Given the description of an element on the screen output the (x, y) to click on. 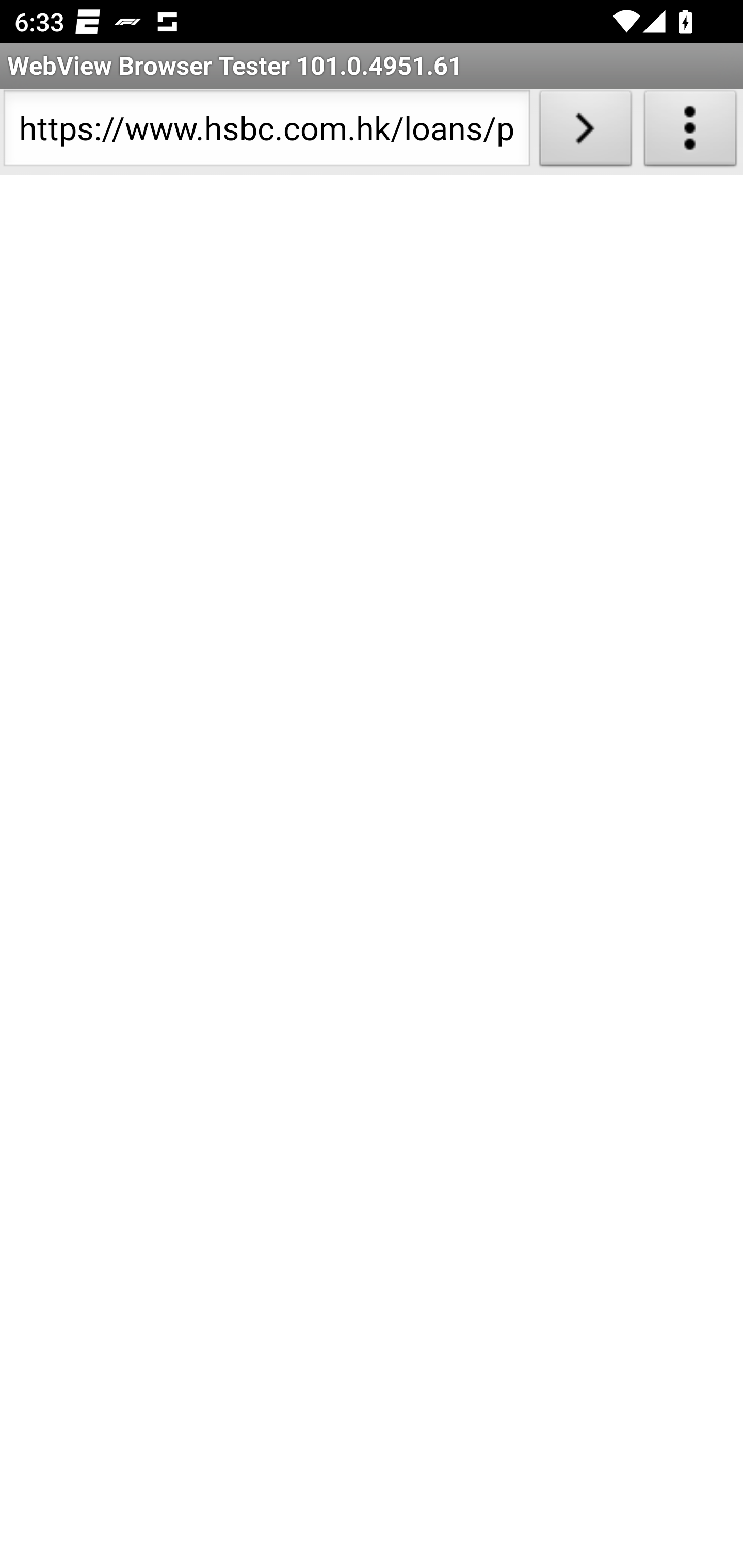
Load URL (585, 132)
About WebView (690, 132)
